Given the description of an element on the screen output the (x, y) to click on. 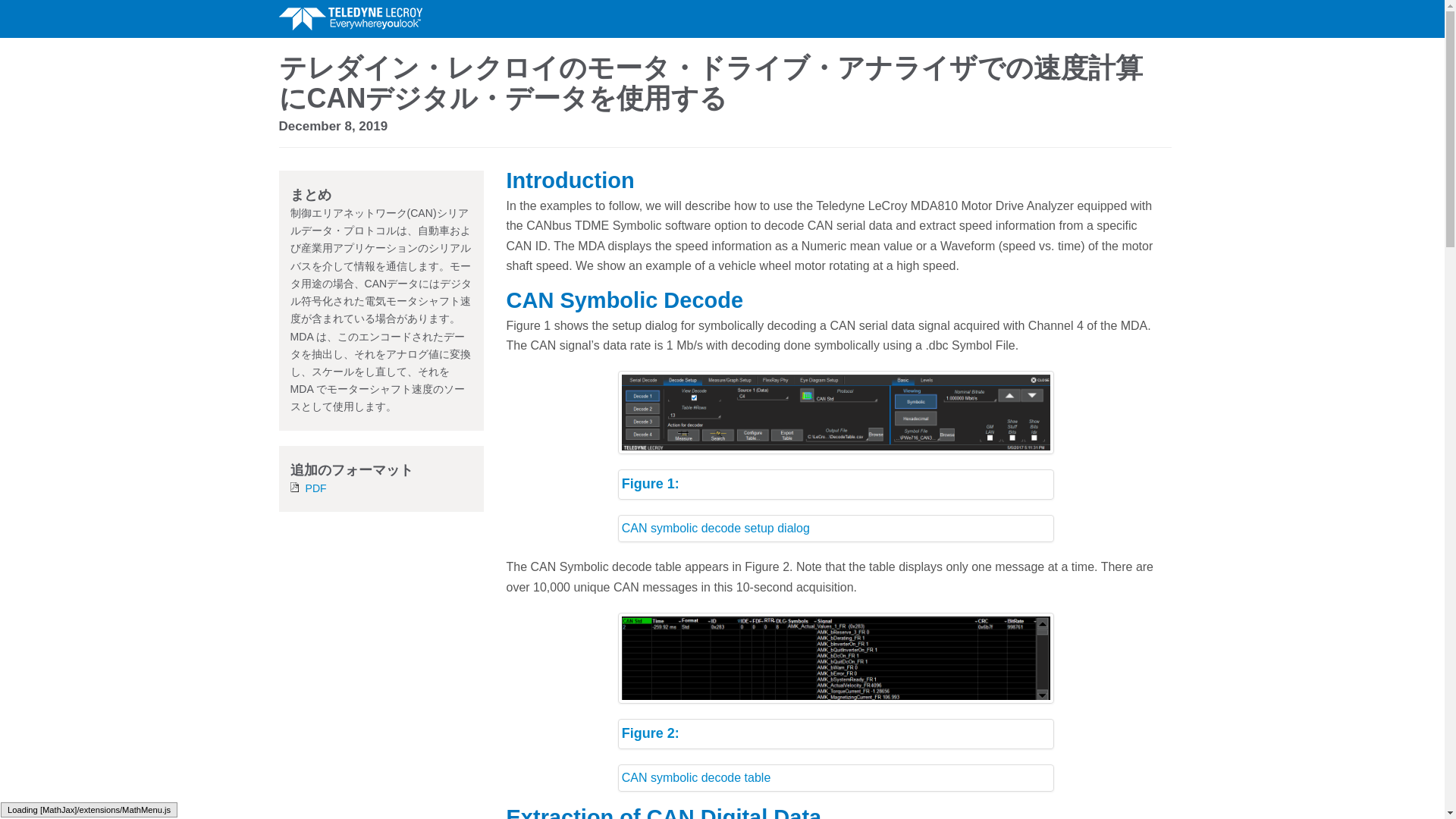
Figure 1: (835, 484)
CAN symbolic decode setup dialog (835, 528)
Figure 2: (835, 734)
CAN symbolic decode table (835, 777)
PDF (315, 487)
